Given the description of an element on the screen output the (x, y) to click on. 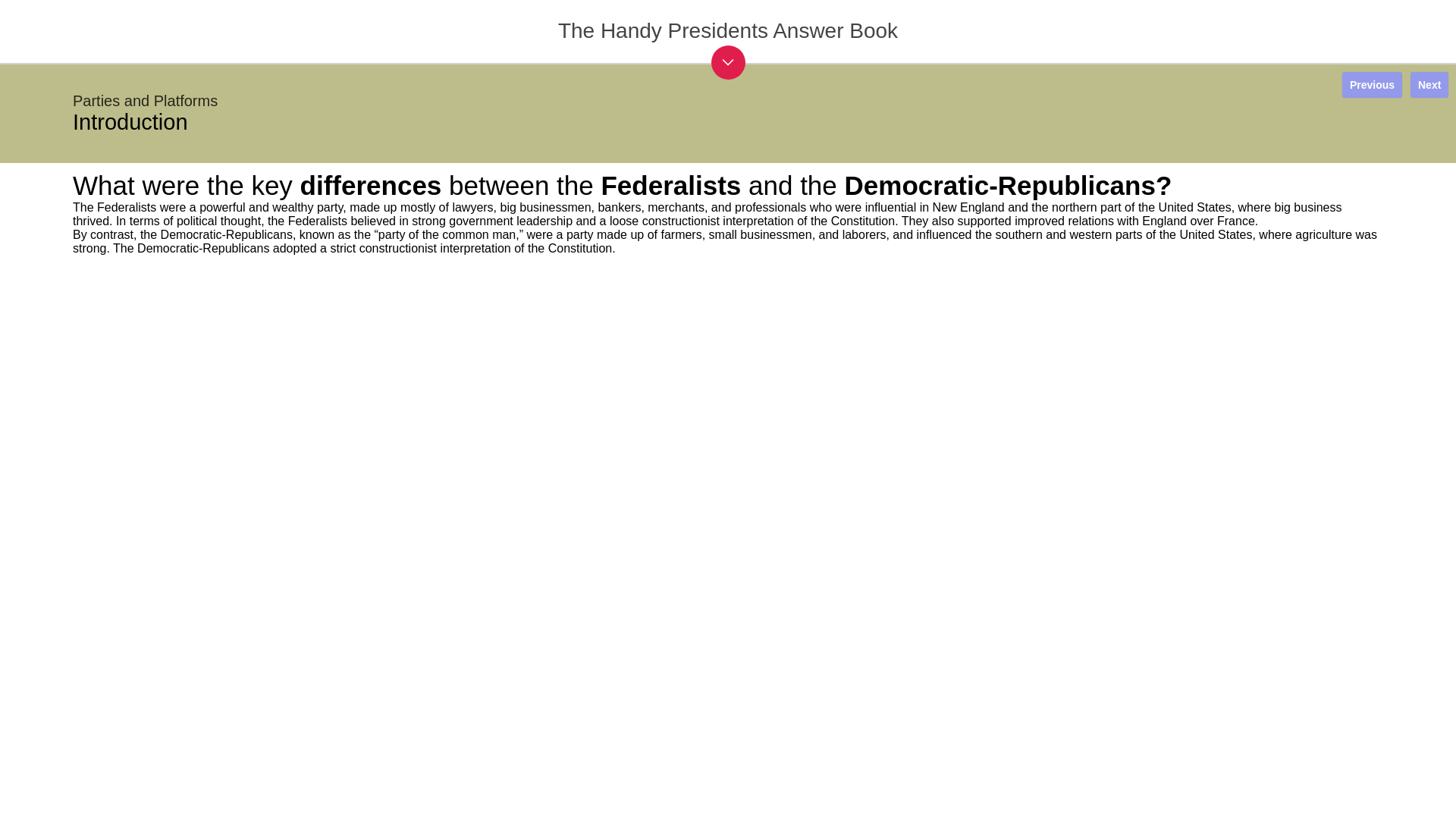
Next (1429, 84)
Previous (1372, 84)
